Given the description of an element on the screen output the (x, y) to click on. 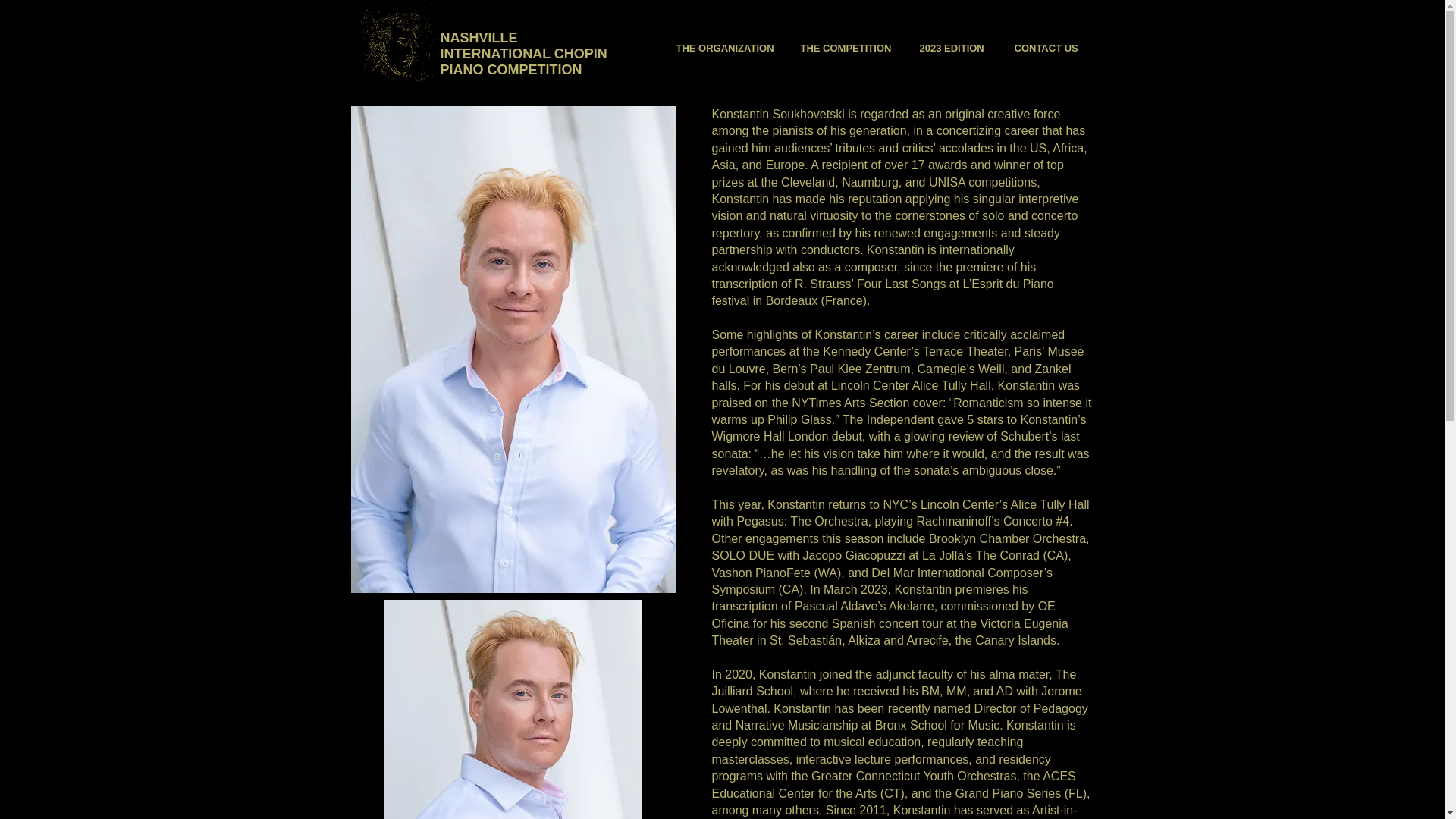
NASHVILLE INTERNATIONAL CHOPIN PIANO COMPETITION (523, 53)
2023 EDITION (955, 47)
CONTACT US (1048, 47)
THE ORGANIZATION (726, 47)
THE COMPETITION (848, 47)
